Given the description of an element on the screen output the (x, y) to click on. 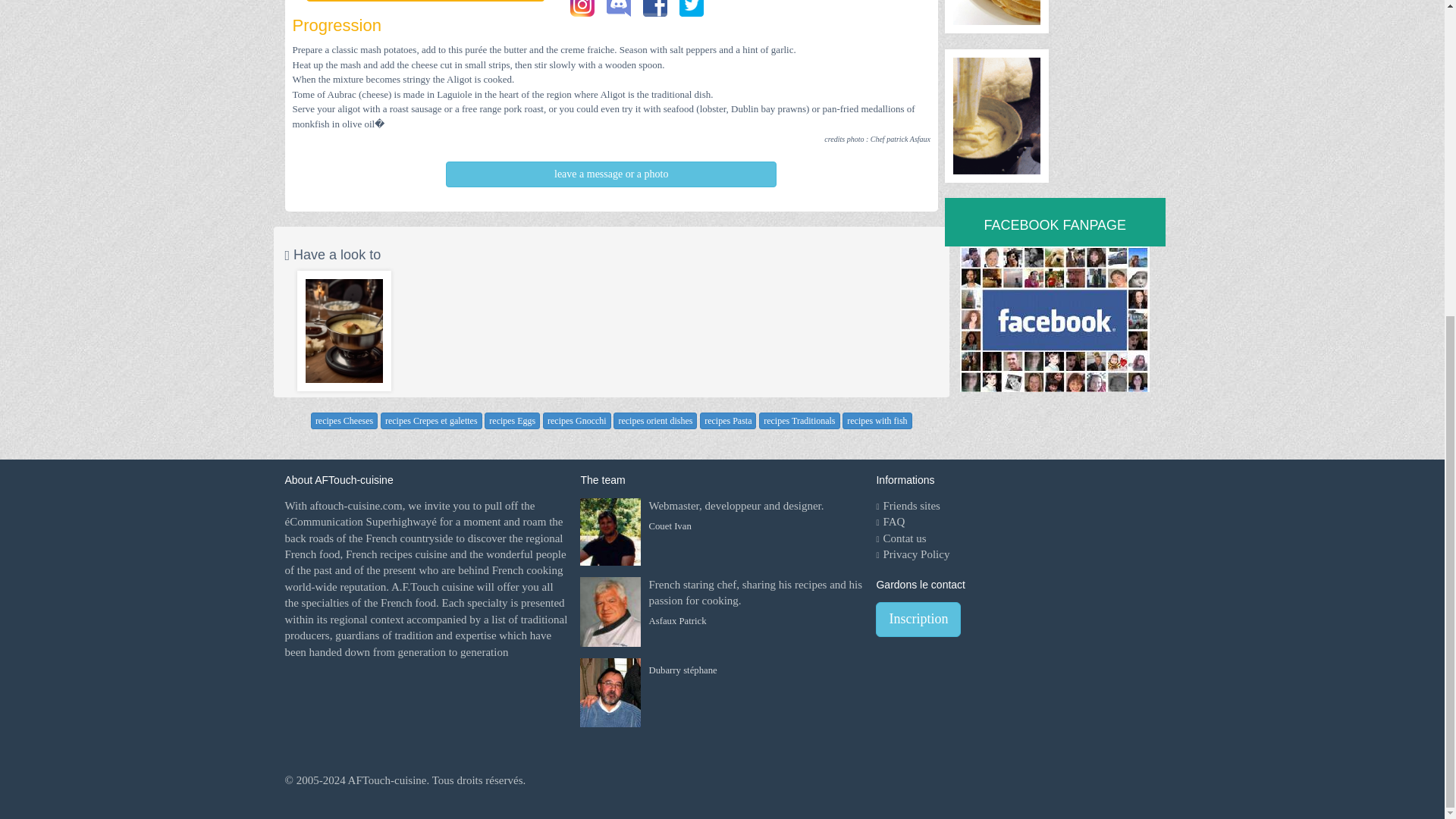
recipes Eggs (512, 420)
recipes Crepes et galettes (430, 420)
AFTouch-cuisine des recettes de cuisine de chef pour tous (386, 779)
recipes orient dishes (654, 420)
recipes Gnocchi (577, 420)
recipes Cheeses (344, 420)
leave a message or a photo (610, 174)
